Given the description of an element on the screen output the (x, y) to click on. 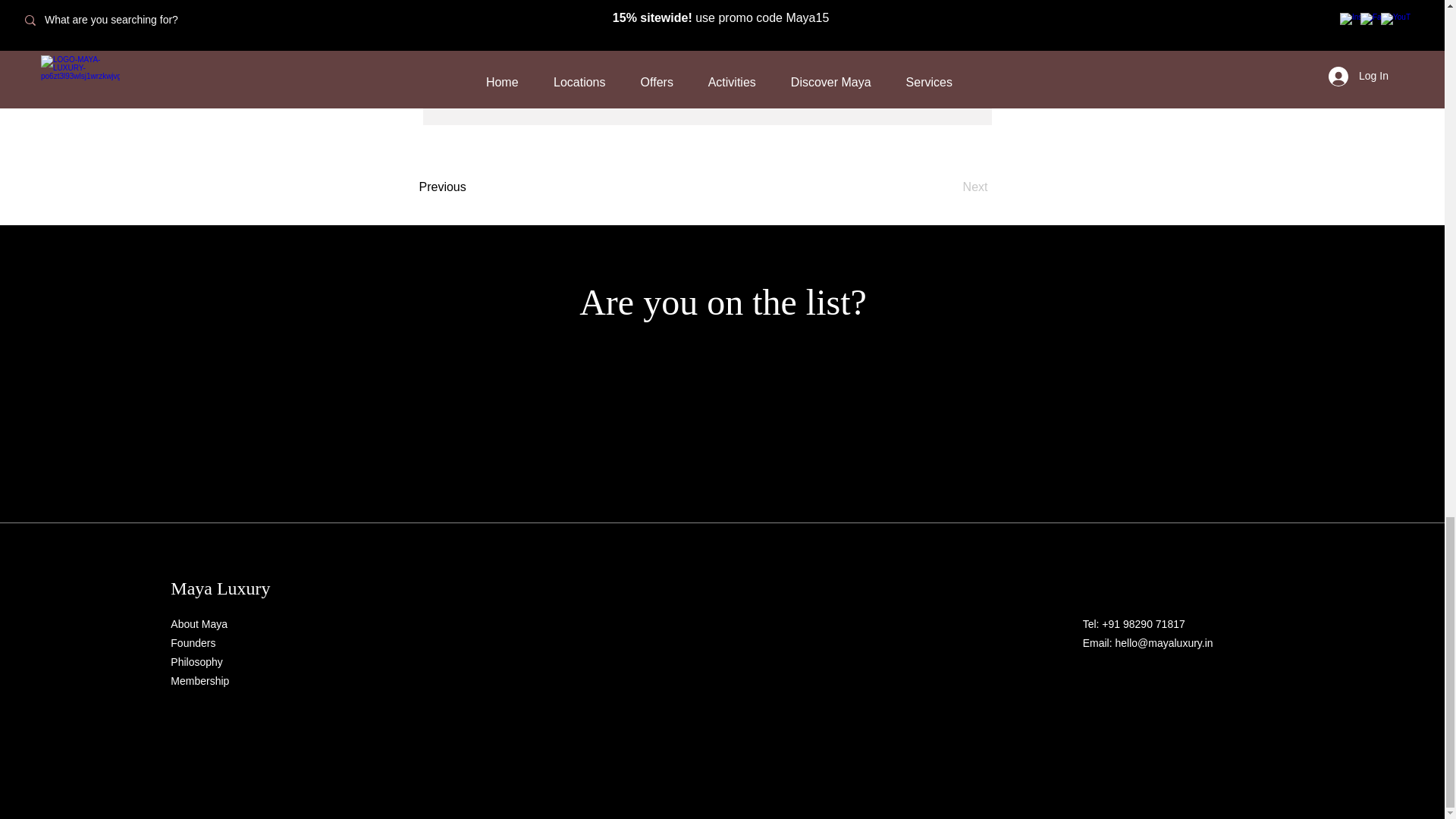
Next (949, 186)
Previous (467, 186)
